Given the description of an element on the screen output the (x, y) to click on. 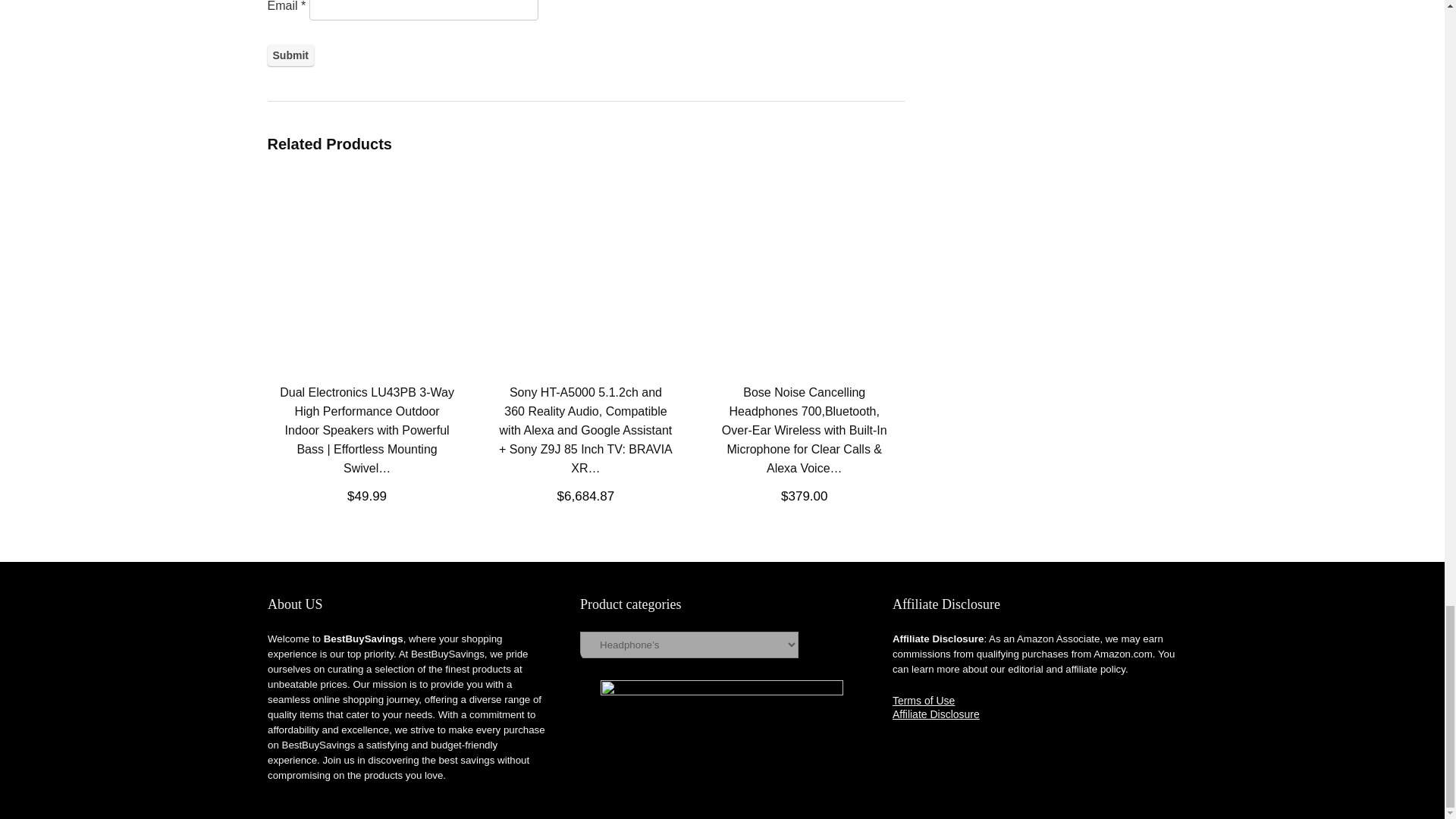
Submit (289, 55)
